Given the description of an element on the screen output the (x, y) to click on. 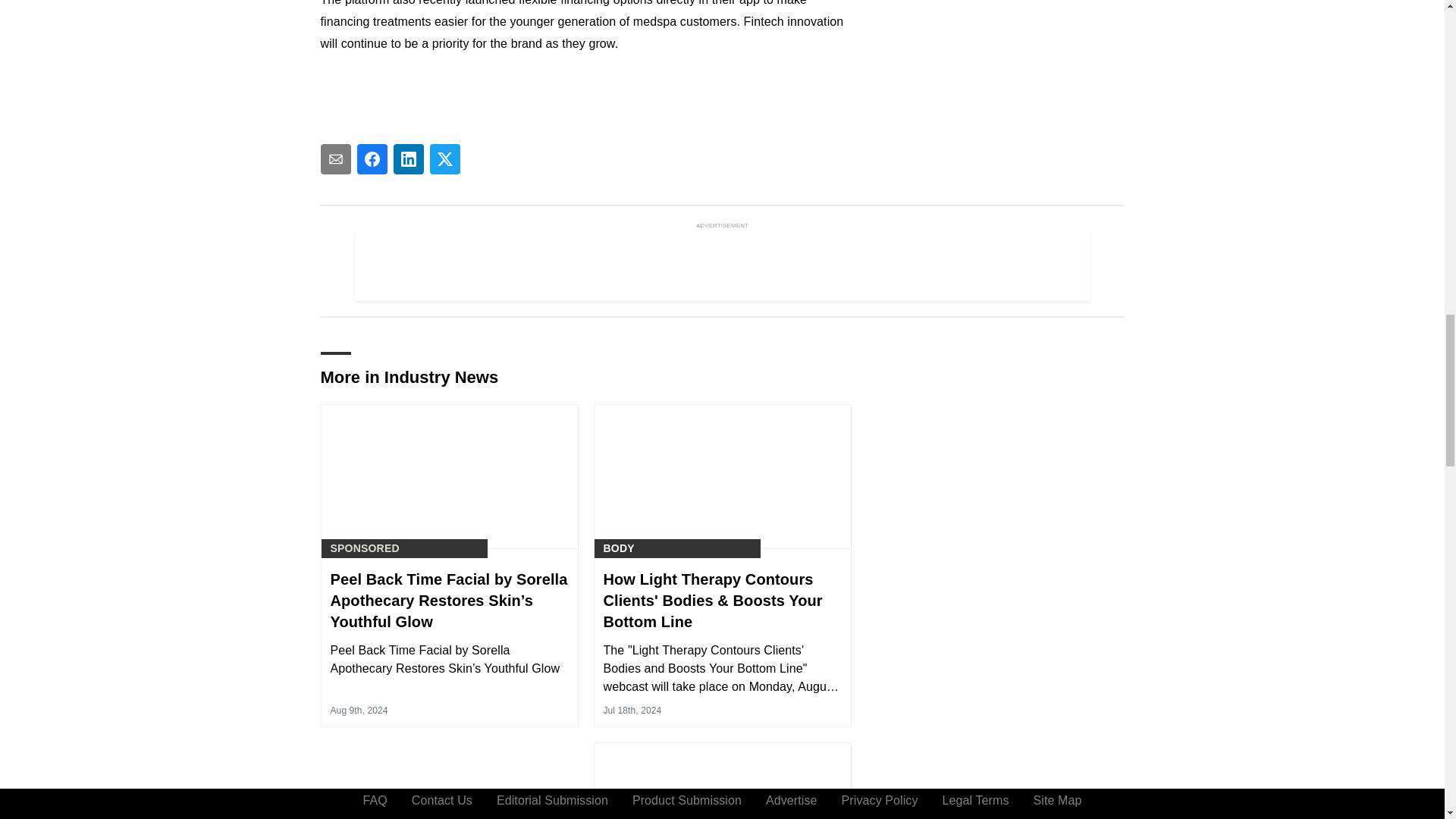
Share To linkedin (408, 159)
Share To email (335, 159)
Share To twitter (444, 159)
Share To facebook (371, 159)
